Given the description of an element on the screen output the (x, y) to click on. 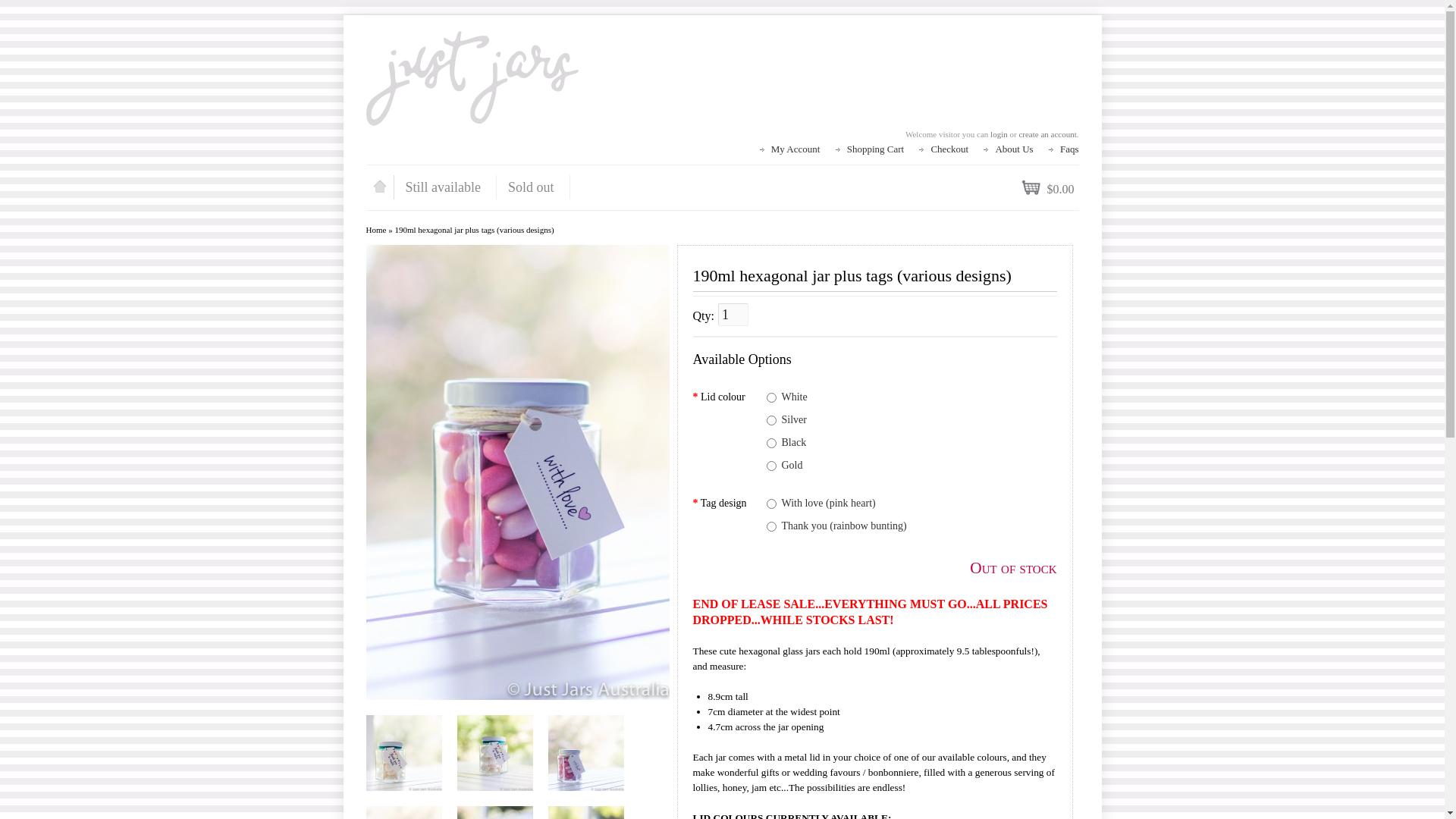
create an account Element type: text (1047, 133)
190ml hexagonal jar plus tags (various designs) Element type: text (473, 229)
Checkout Element type: text (949, 148)
My Account Element type: text (795, 148)
About Us Element type: text (1013, 148)
Faqs Element type: text (1069, 148)
190ml hexagonal jar plus tags (various designs) Element type: hover (585, 752)
Home Element type: text (379, 187)
Sold out Element type: text (533, 187)
Just Jars Australia Element type: hover (471, 78)
login Element type: text (998, 133)
190ml hexagonal jar plus tags (various designs) Element type: hover (403, 752)
$0.00 Element type: text (1047, 189)
190ml hexagonal jar plus tags (various designs) Element type: hover (494, 752)
Still available Element type: text (445, 187)
190ml hexagonal jar plus tags (various designs) Element type: hover (516, 471)
Shopping Cart Element type: text (875, 148)
Home Element type: text (375, 229)
